Given the description of an element on the screen output the (x, y) to click on. 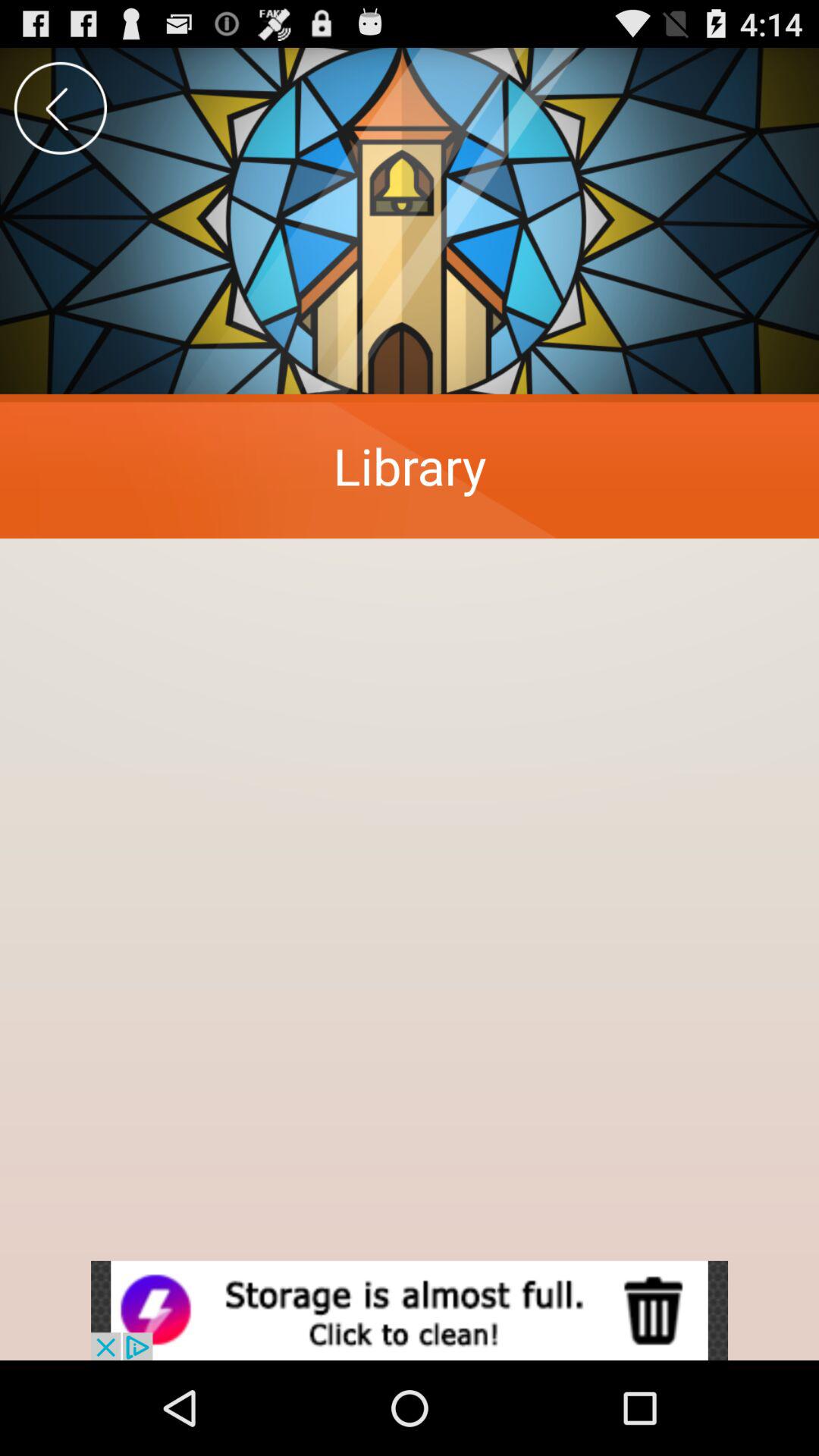
goback (60, 107)
